Given the description of an element on the screen output the (x, y) to click on. 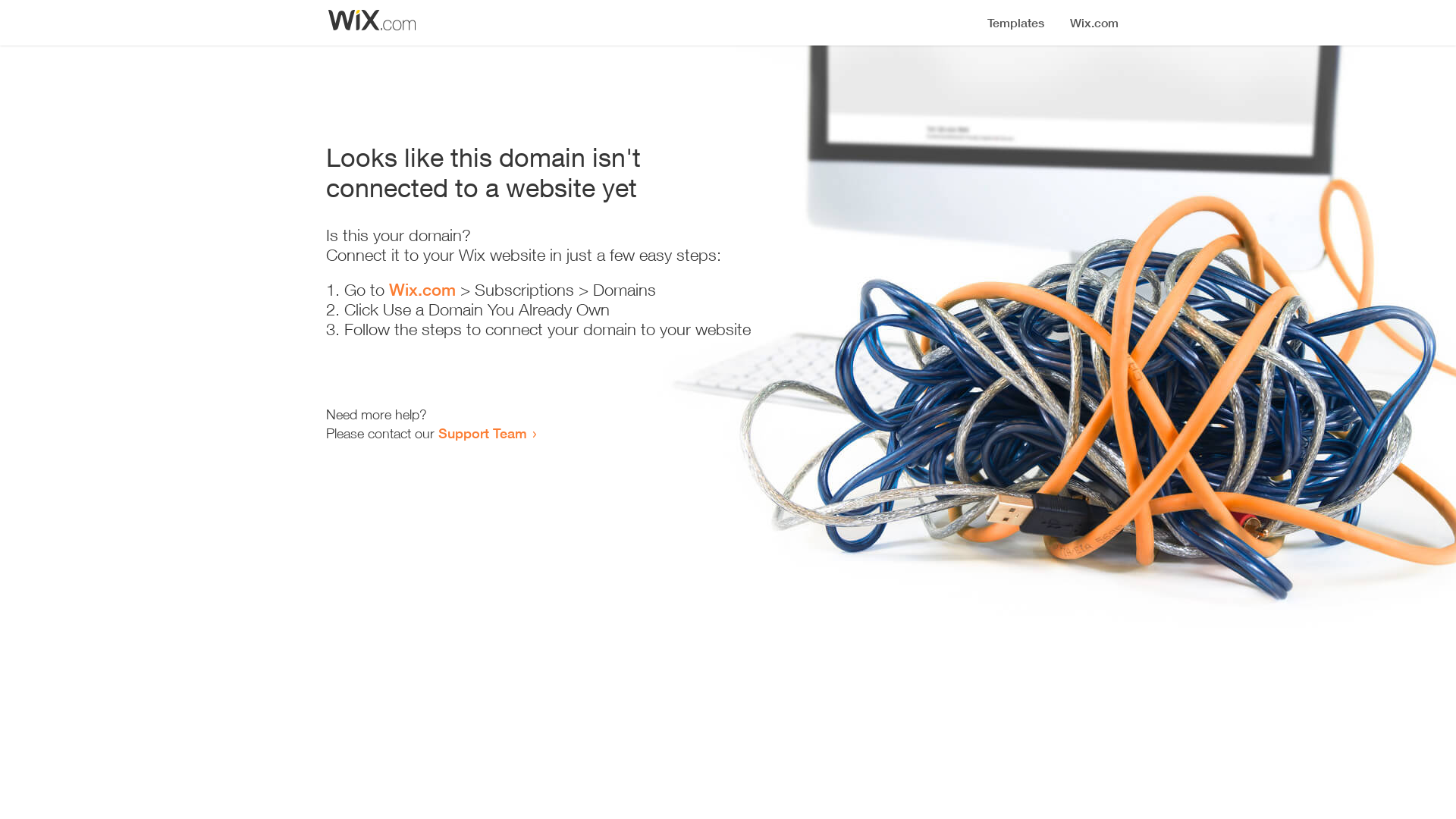
Support Team Element type: text (482, 432)
Wix.com Element type: text (422, 289)
